Given the description of an element on the screen output the (x, y) to click on. 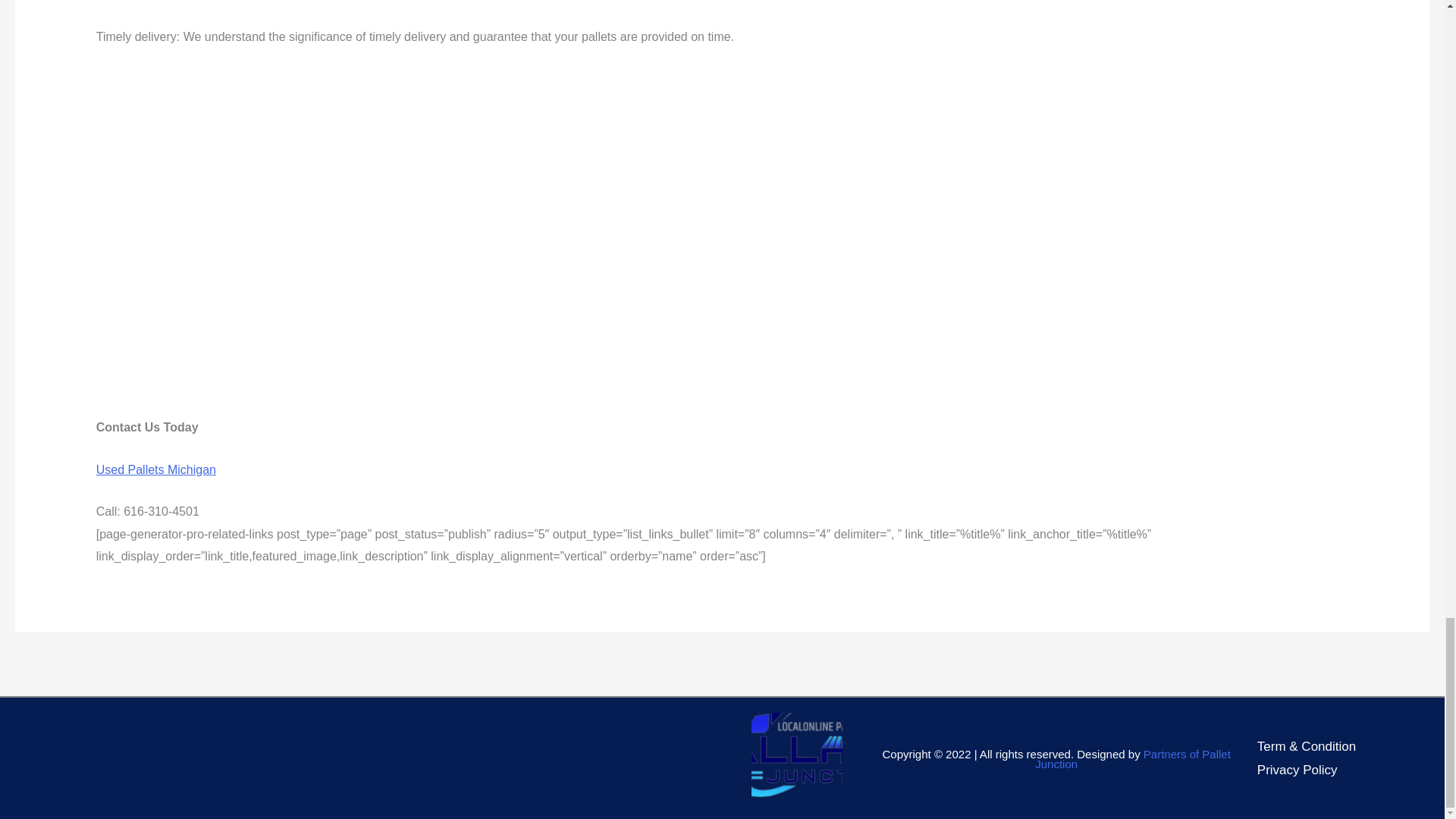
cropped-cropped-JPEG-FILE-01-removebg-preview.png (797, 757)
Used Pallets Michigan (155, 468)
Partners of Pallet Junction (1132, 758)
Privacy Policy (1297, 770)
